Given the description of an element on the screen output the (x, y) to click on. 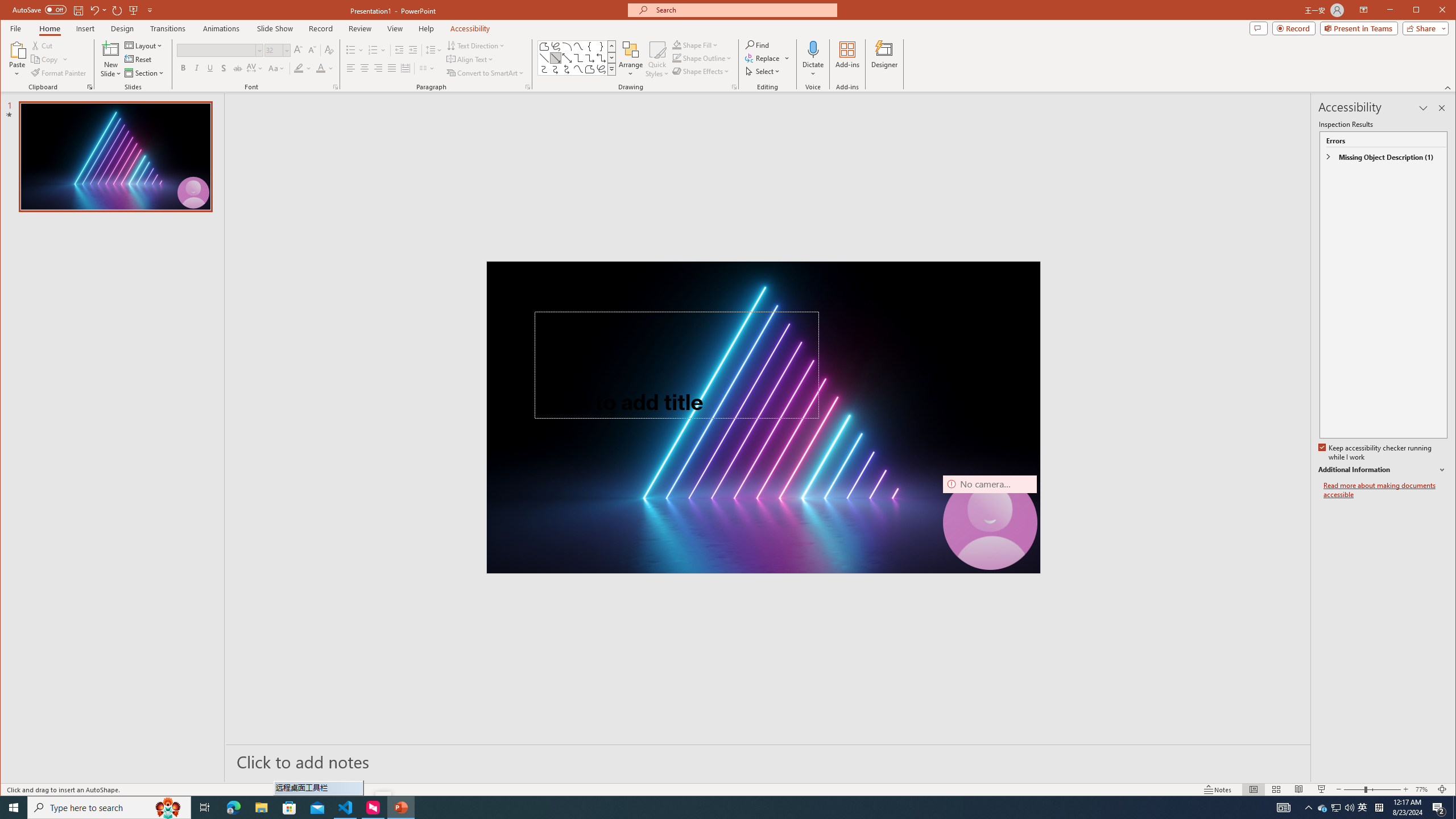
Neon laser lights aligned to form a triangle (762, 417)
